Given the description of an element on the screen output the (x, y) to click on. 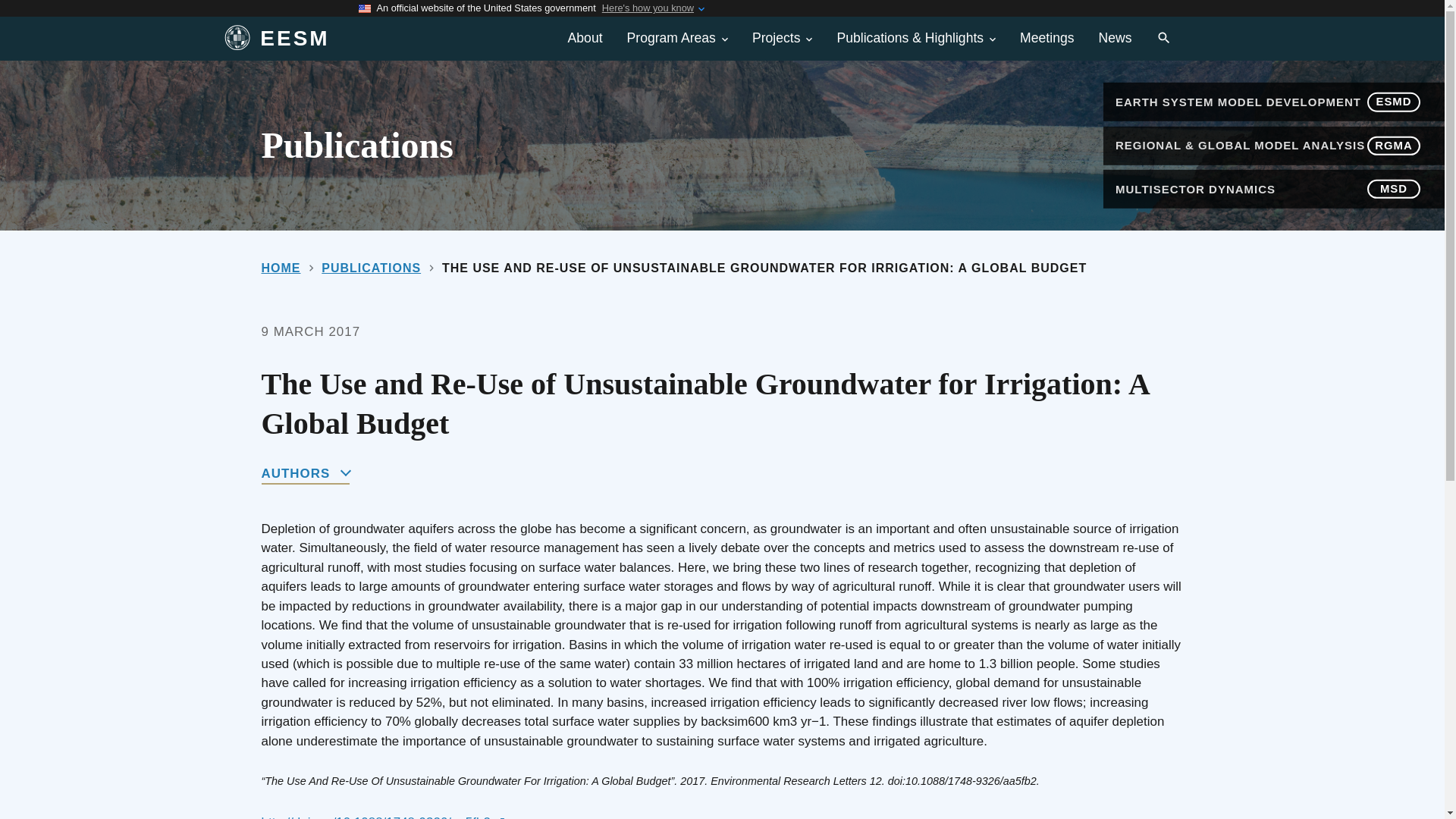
Projects (782, 38)
Here's how you know (648, 8)
About (585, 38)
HOME (279, 267)
EESM (374, 38)
PUBLICATIONS (370, 267)
Program Areas (676, 38)
News (1114, 38)
Meetings (1046, 38)
